Given the description of an element on the screen output the (x, y) to click on. 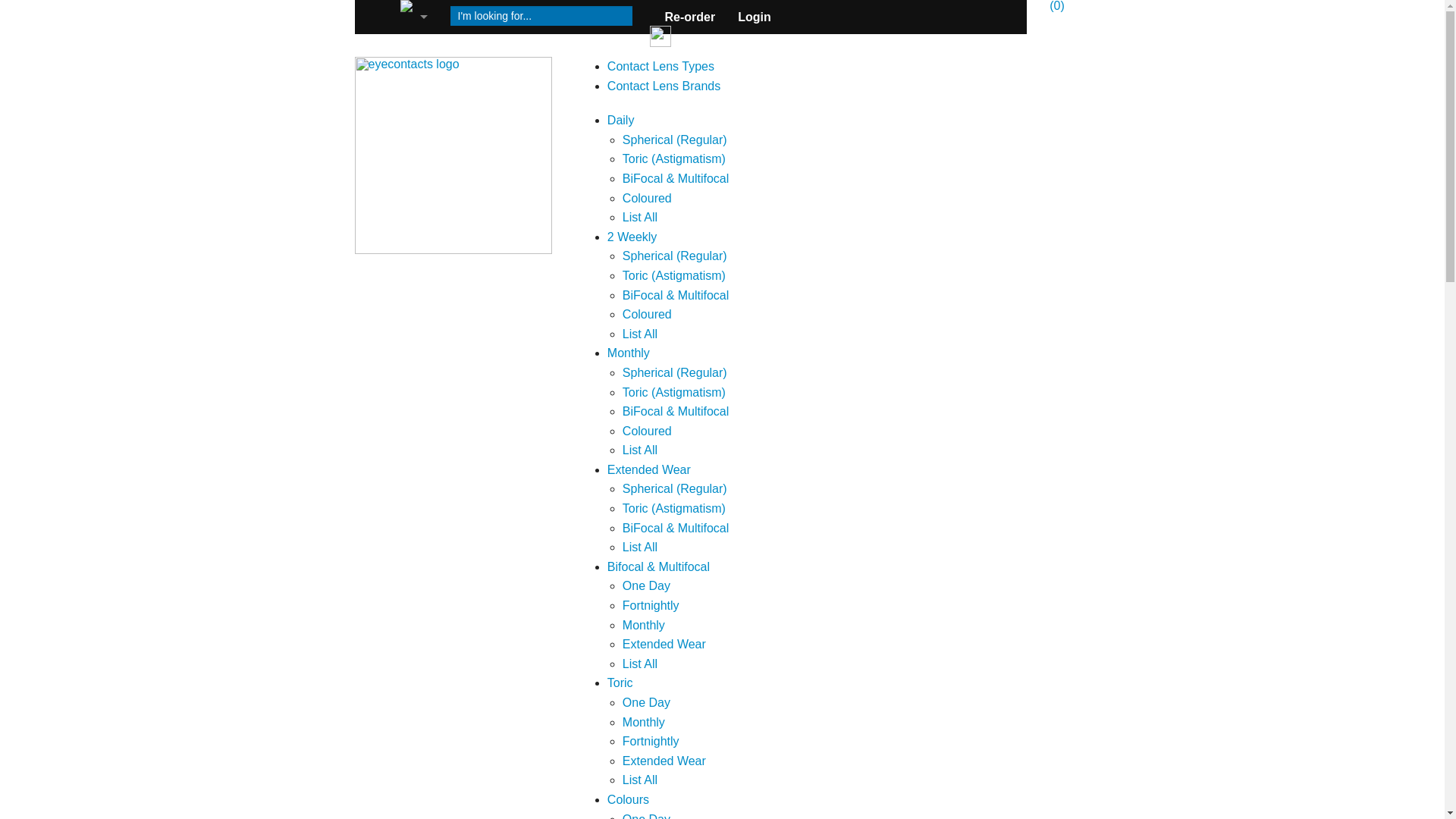
List All Element type: text (639, 663)
Toric (Astigmatism) Element type: text (673, 158)
One Day Element type: text (646, 702)
BiFocal & Multifocal Element type: text (675, 178)
BiFocal & Multifocal Element type: text (675, 410)
Spherical (Regular) Element type: text (674, 255)
List All Element type: text (639, 449)
Extended Wear Element type: text (648, 469)
Spherical (Regular) Element type: text (674, 139)
One Day Element type: text (646, 585)
Coloured Element type: text (646, 430)
Extended Wear Element type: text (664, 643)
Spherical (Regular) Element type: text (674, 372)
List All Element type: text (639, 546)
Monthly Element type: text (628, 352)
Monthly Element type: text (643, 624)
Login Element type: text (754, 17)
Colours Element type: text (628, 799)
Menu Element type: hover (413, 17)
Toric (Astigmatism) Element type: text (673, 508)
Fortnightly Element type: text (650, 740)
List All Element type: text (639, 779)
Coloured Element type: text (646, 197)
Contact Lens Brands Element type: text (663, 85)
2 Weekly Element type: text (632, 236)
BiFocal & Multifocal Element type: text (675, 294)
Contact Lens Types Element type: text (660, 65)
Extended Wear Element type: text (664, 760)
List All Element type: text (639, 333)
BiFocal & Multifocal Element type: text (675, 527)
go Element type: text (651, 36)
Fortnightly Element type: text (650, 605)
EyeContacts Logo Element type: hover (453, 155)
Coloured Element type: text (646, 313)
Bifocal & Multifocal Element type: text (658, 566)
Spherical (Regular) Element type: text (674, 488)
Toric Element type: text (620, 682)
Daily Element type: text (620, 119)
Toric (Astigmatism) Element type: text (673, 391)
Monthly Element type: text (643, 721)
Toric (Astigmatism) Element type: text (673, 275)
List All Element type: text (639, 216)
Re-order Element type: text (690, 17)
